Given the description of an element on the screen output the (x, y) to click on. 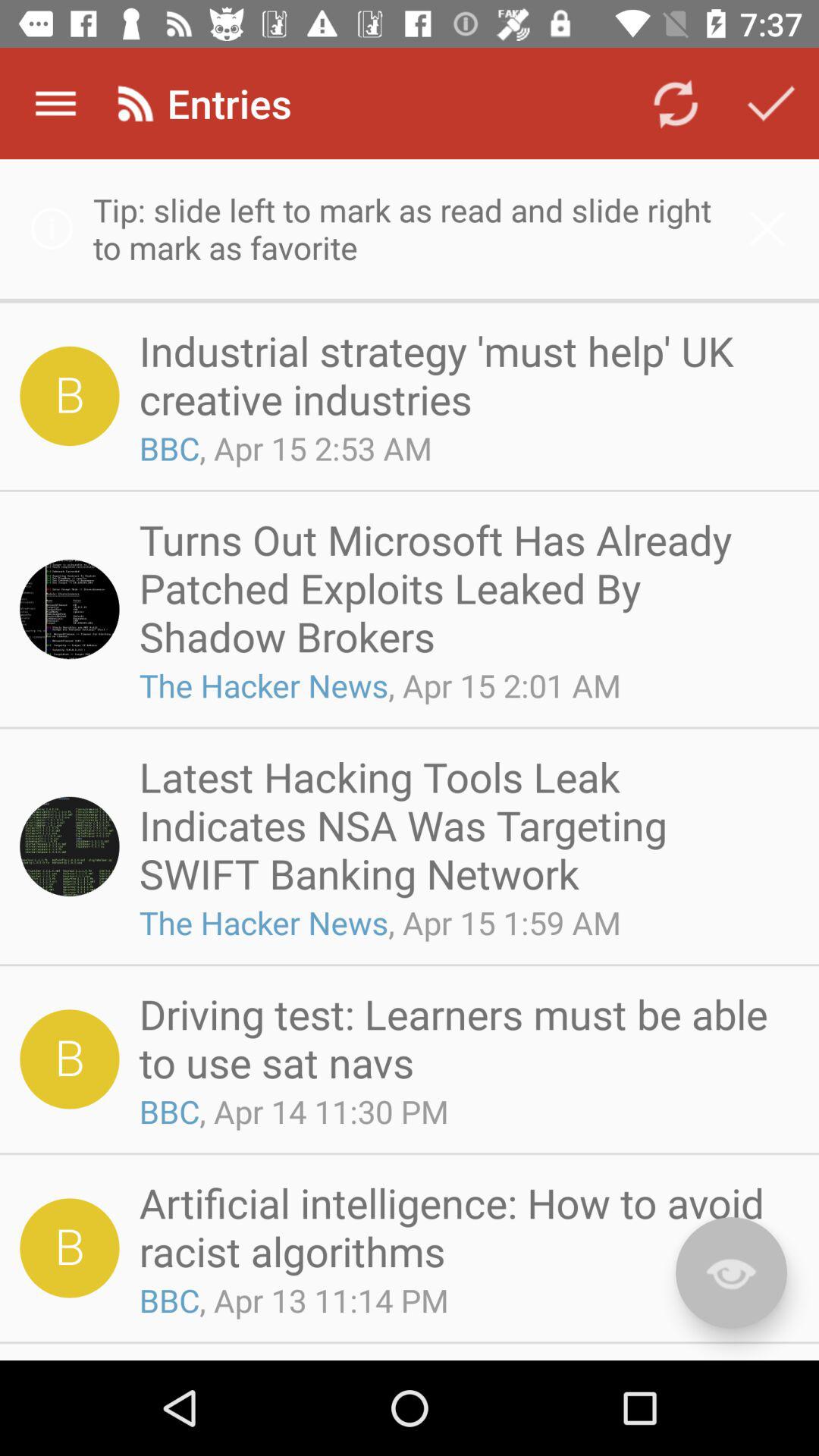
swipe to the latest hacking tools icon (463, 824)
